Given the description of an element on the screen output the (x, y) to click on. 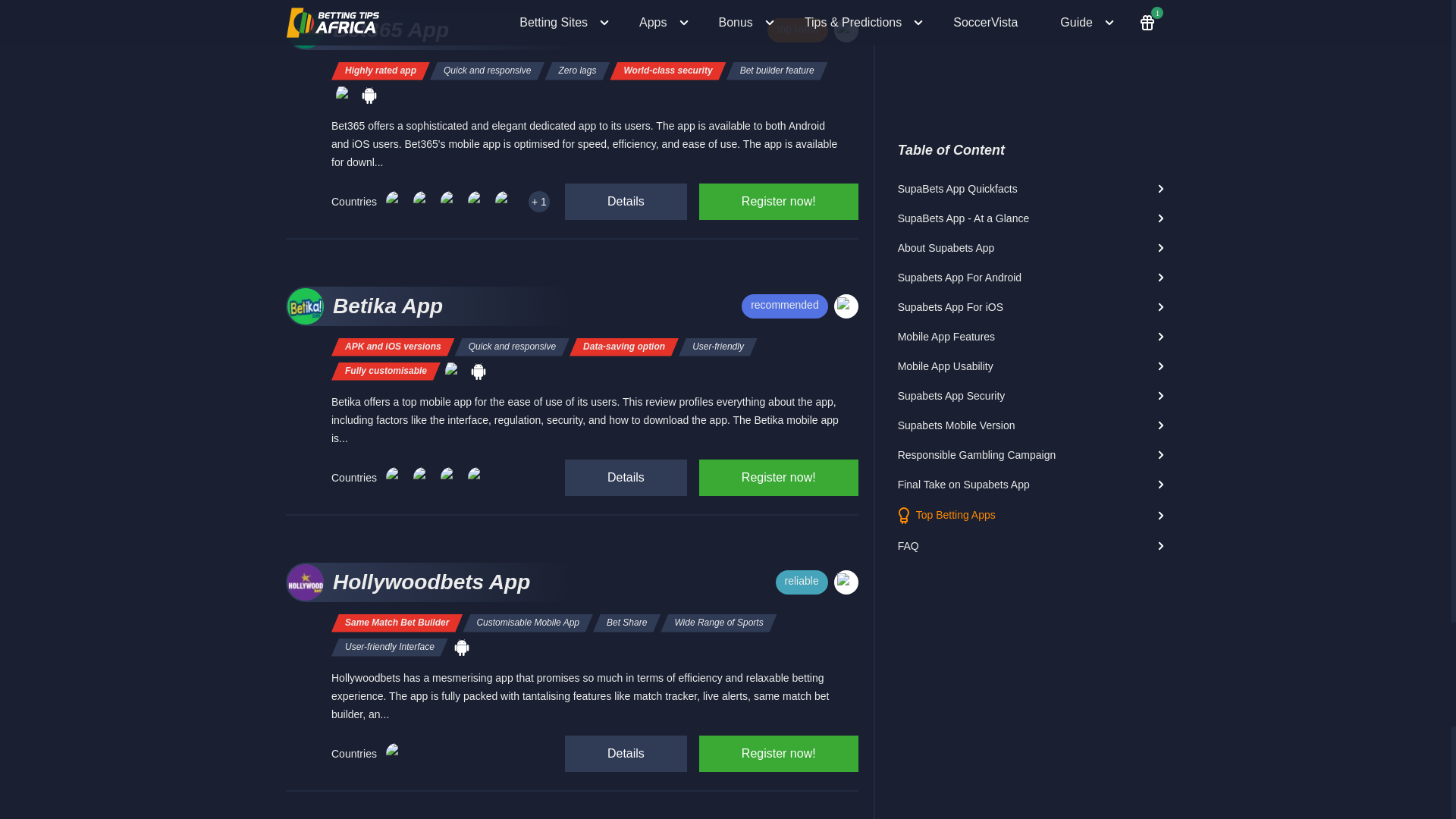
Bet365 App (446, 30)
Details (625, 201)
